Given the description of an element on the screen output the (x, y) to click on. 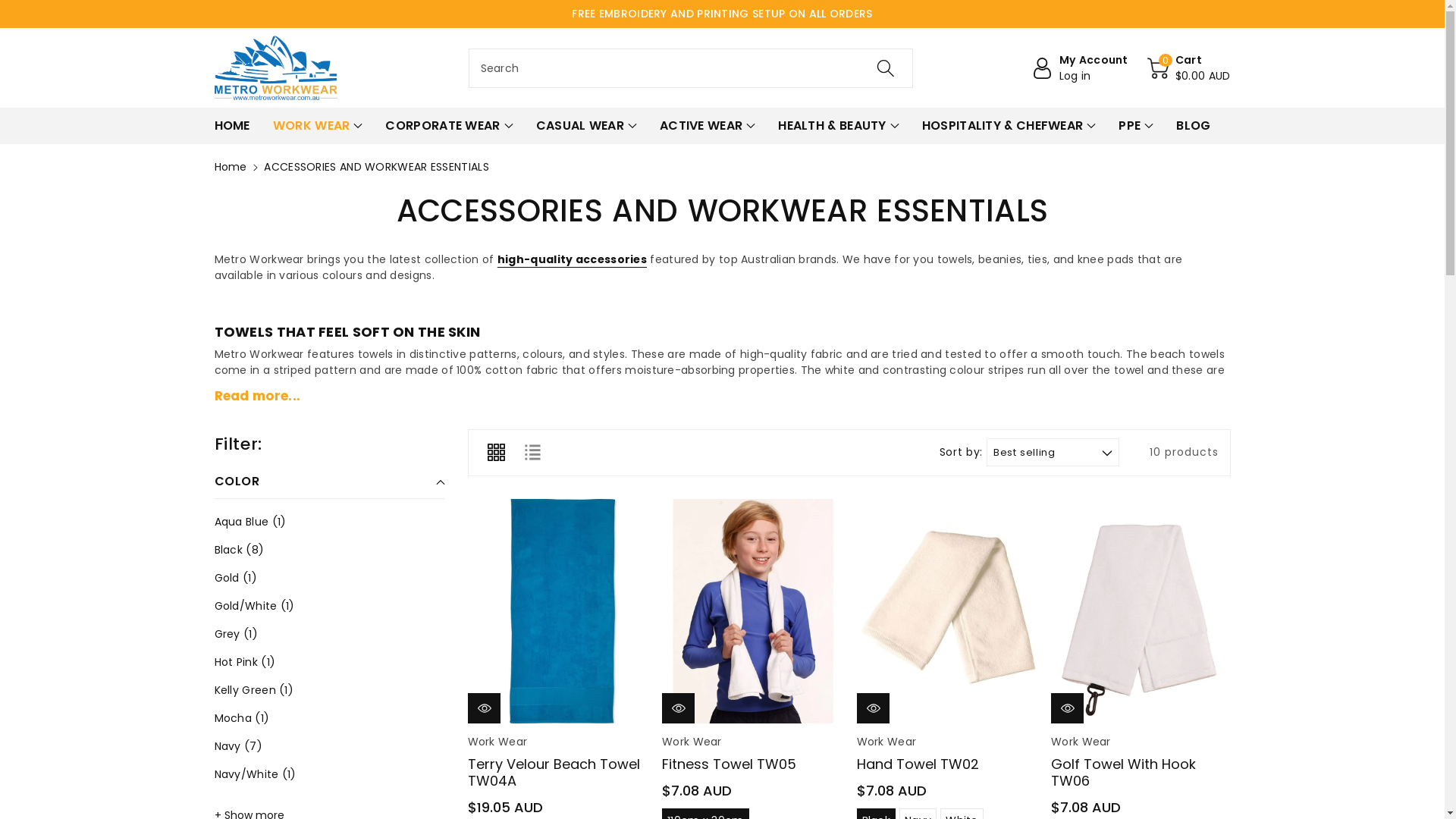
Fitness Towel TW05 Element type: text (729, 763)
My Account
Log in Element type: text (1079, 67)
Golf Towel With Hook TW06 Element type: hover (1140, 610)
Terry Velour Beach Towel TW04A Element type: hover (556, 610)
high-quality accessories Element type: text (571, 258)
Terry Velour Beach Towel TW04A Element type: text (553, 772)
0
Cart
$0.00 AUD Element type: text (1188, 67)
Hand Towel TW02 Element type: hover (946, 610)
BLOG Element type: text (1193, 125)
FREE EMBROIDERY AND PRINTING SETUP ON ALL ORDERS Element type: text (721, 13)
Hand Towel TW02 Element type: text (917, 763)
Golf Towel With Hook TW06 Element type: text (1123, 772)
HOME Element type: text (231, 125)
Home Element type: text (229, 166)
Fitness Towel TW05 Element type: hover (751, 610)
Read more... Element type: text (721, 396)
